Given the description of an element on the screen output the (x, y) to click on. 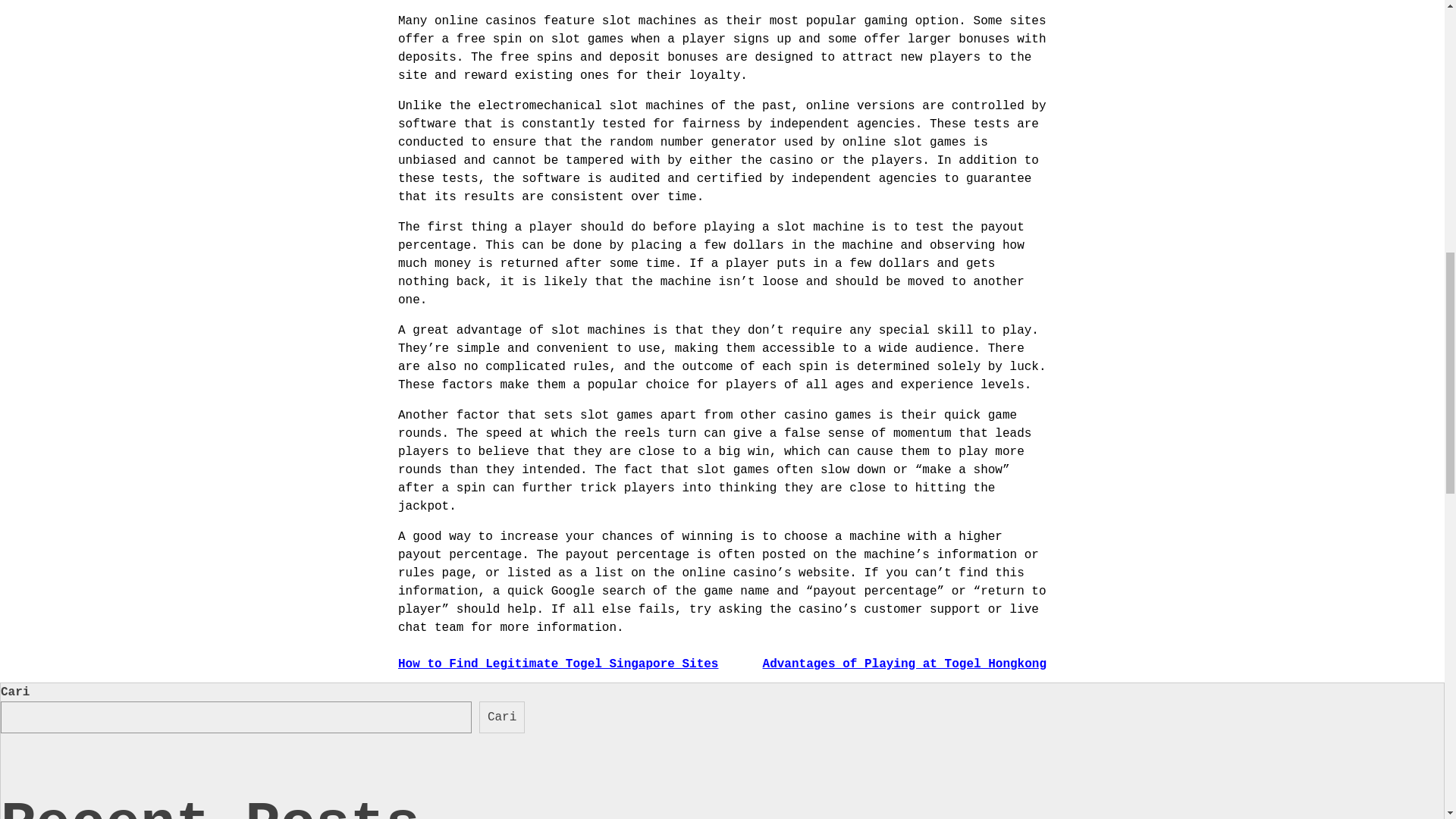
Cari (501, 717)
How to Find Legitimate Togel Singapore Sites (557, 663)
Advantages of Playing at Togel Hongkong (904, 663)
